Given the description of an element on the screen output the (x, y) to click on. 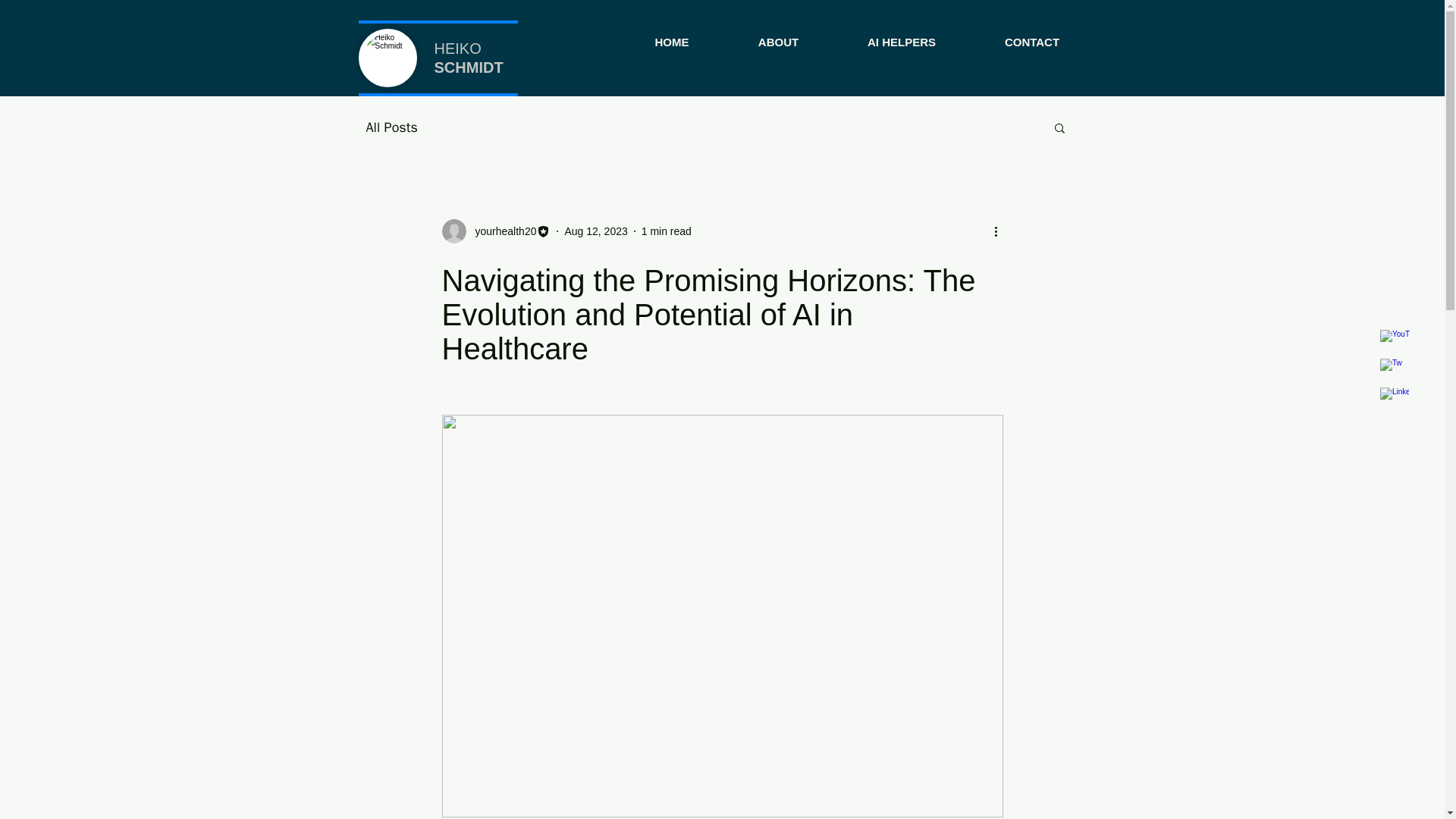
CONTACT (1032, 35)
AI HELPERS (900, 35)
ABOUT (777, 35)
Aug 12, 2023 (595, 230)
HOME (671, 35)
All Posts (390, 126)
yourhealth20 (495, 231)
yourhealth20 (500, 230)
HEIKO SCHMIDT (467, 58)
1 min read (666, 230)
